Given the description of an element on the screen output the (x, y) to click on. 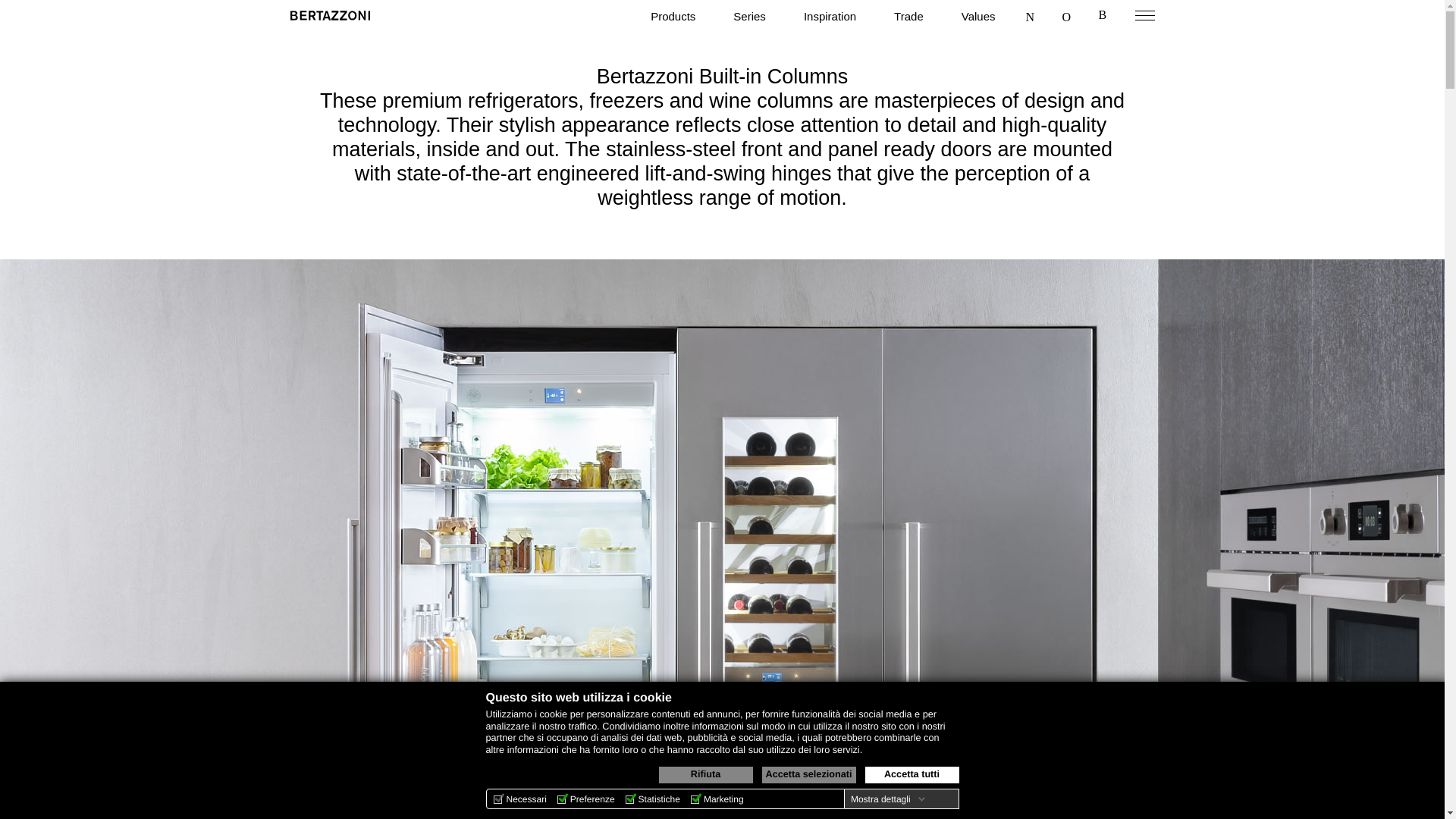
Accetta selezionati (808, 774)
Ranges, Ovens and Cooktops - Bertazzoni (329, 15)
Accetta tutti (911, 774)
Rifiuta (705, 774)
Mostra dettagli (887, 799)
